Given the description of an element on the screen output the (x, y) to click on. 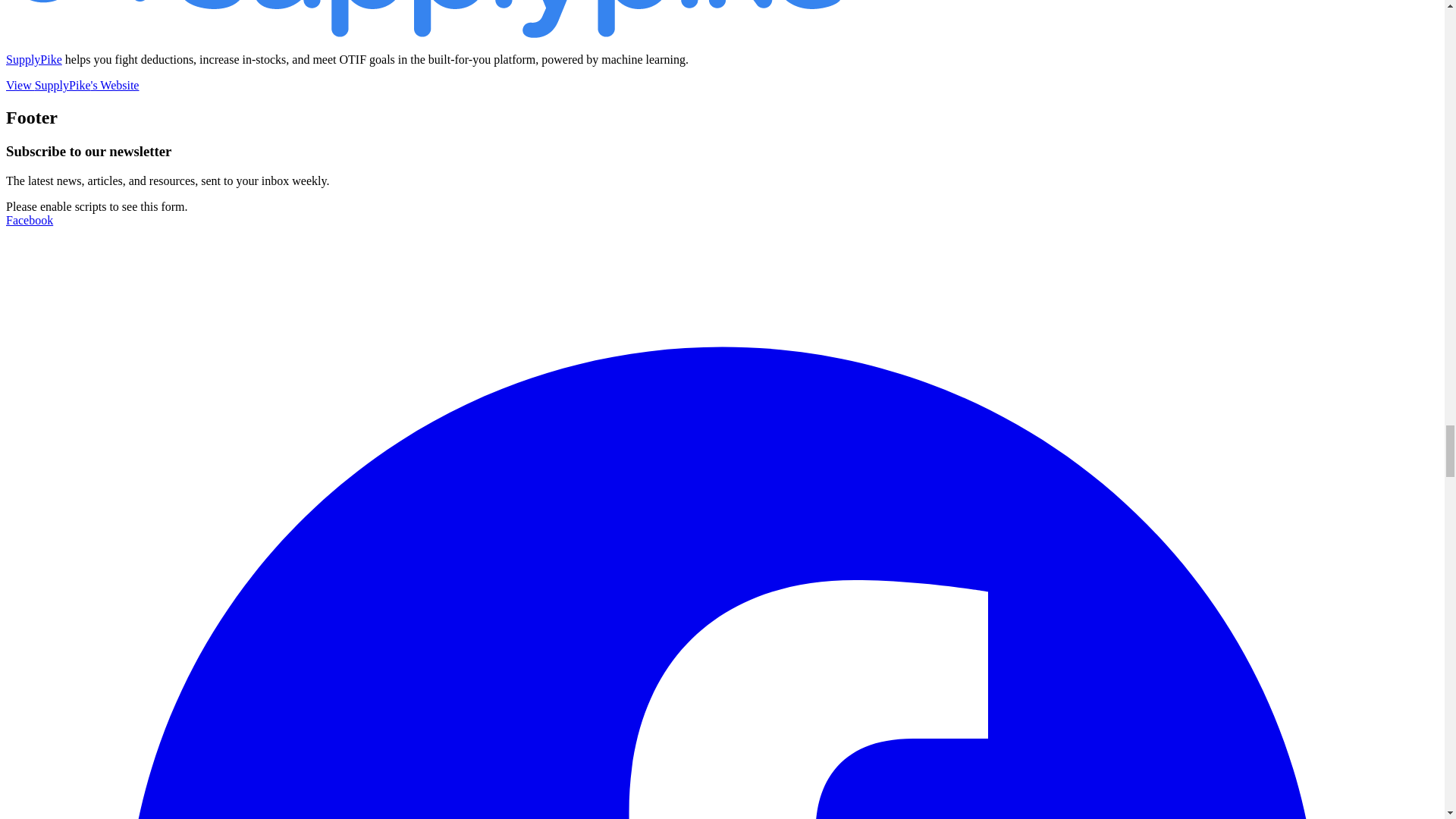
View SupplyPike's Website (71, 84)
SupplyPike (33, 59)
